Given the description of an element on the screen output the (x, y) to click on. 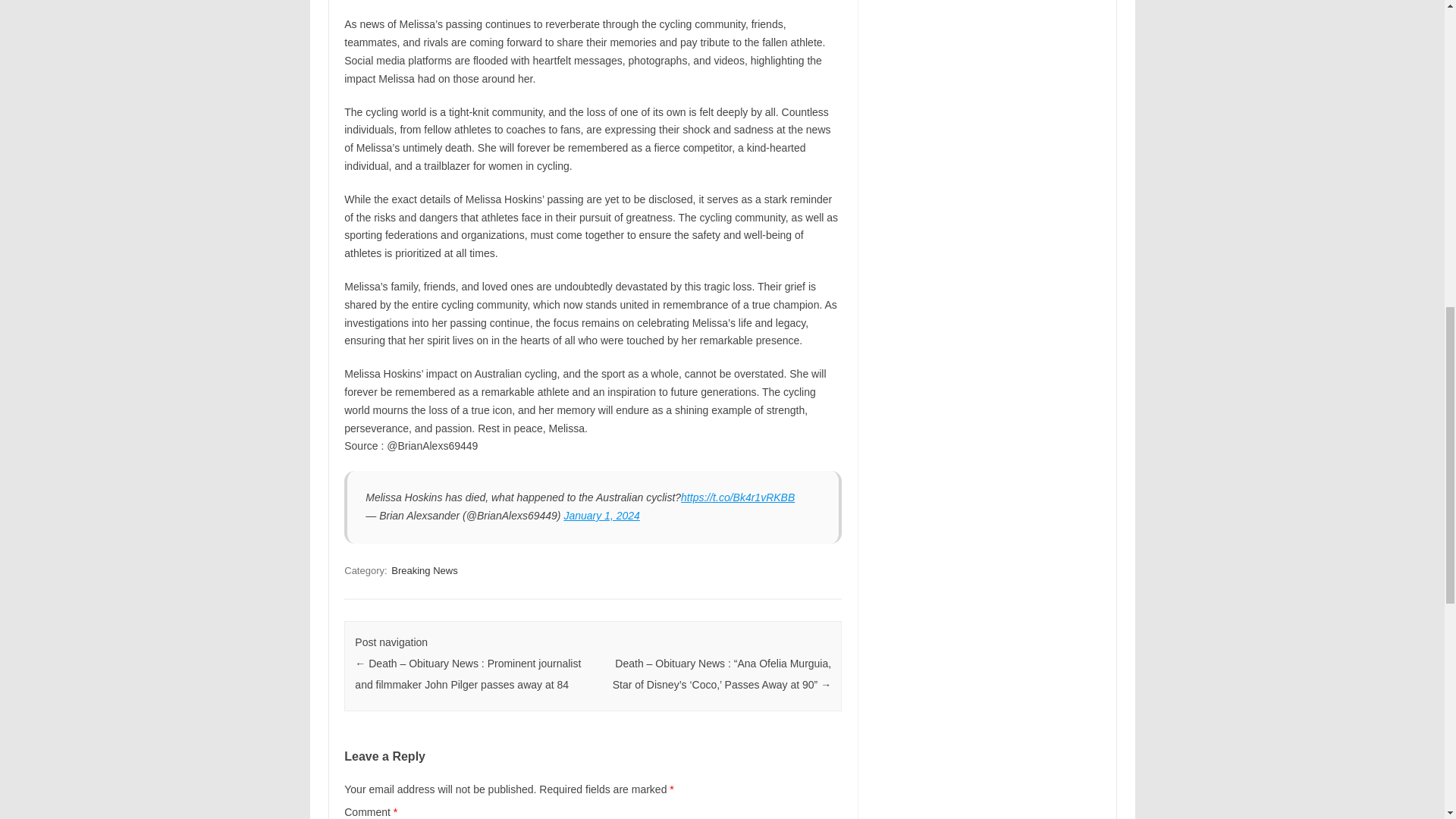
Breaking News (424, 570)
January 1, 2024 (601, 515)
